Given the description of an element on the screen output the (x, y) to click on. 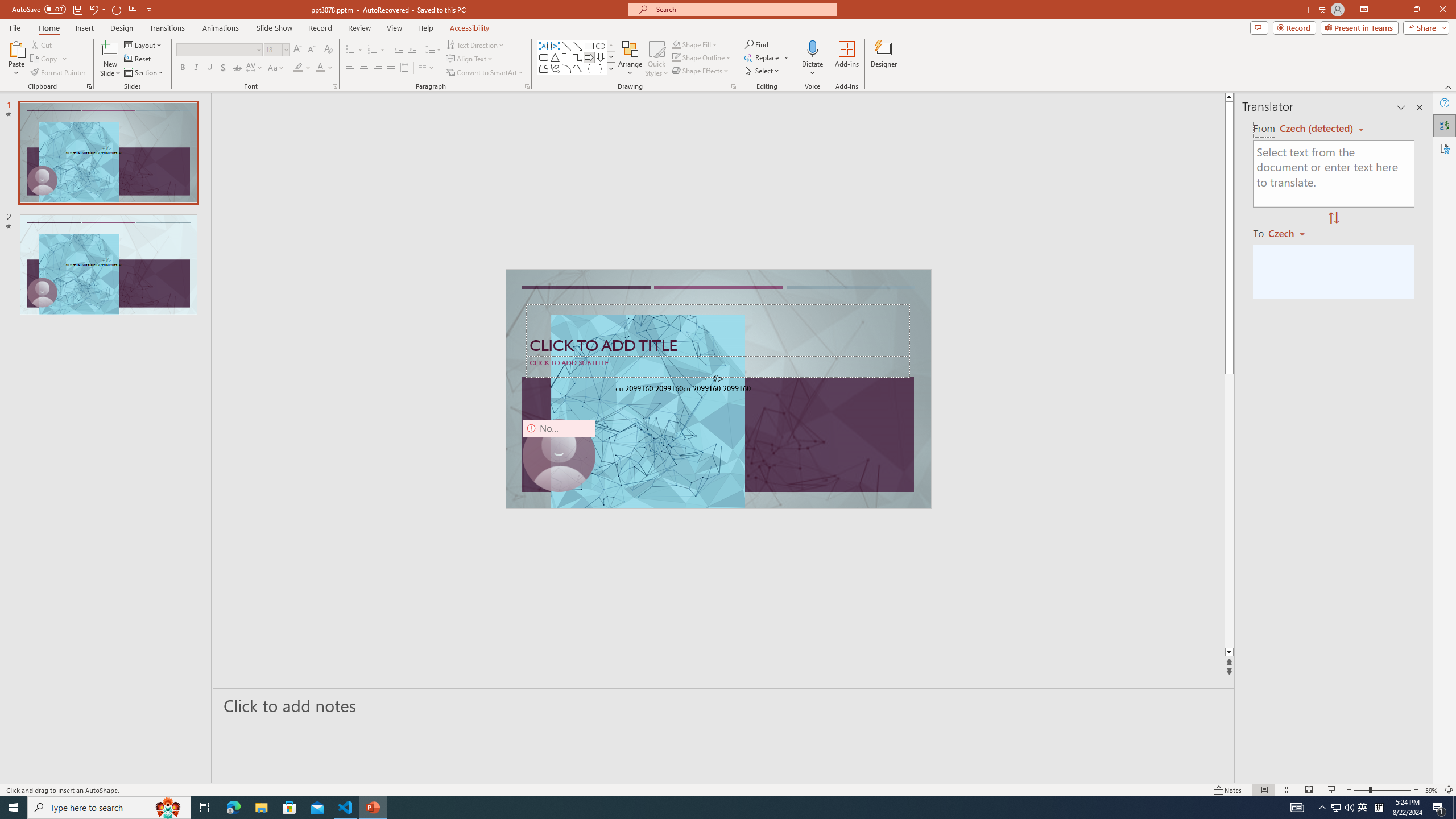
Czech (detected) (1317, 128)
